Given the description of an element on the screen output the (x, y) to click on. 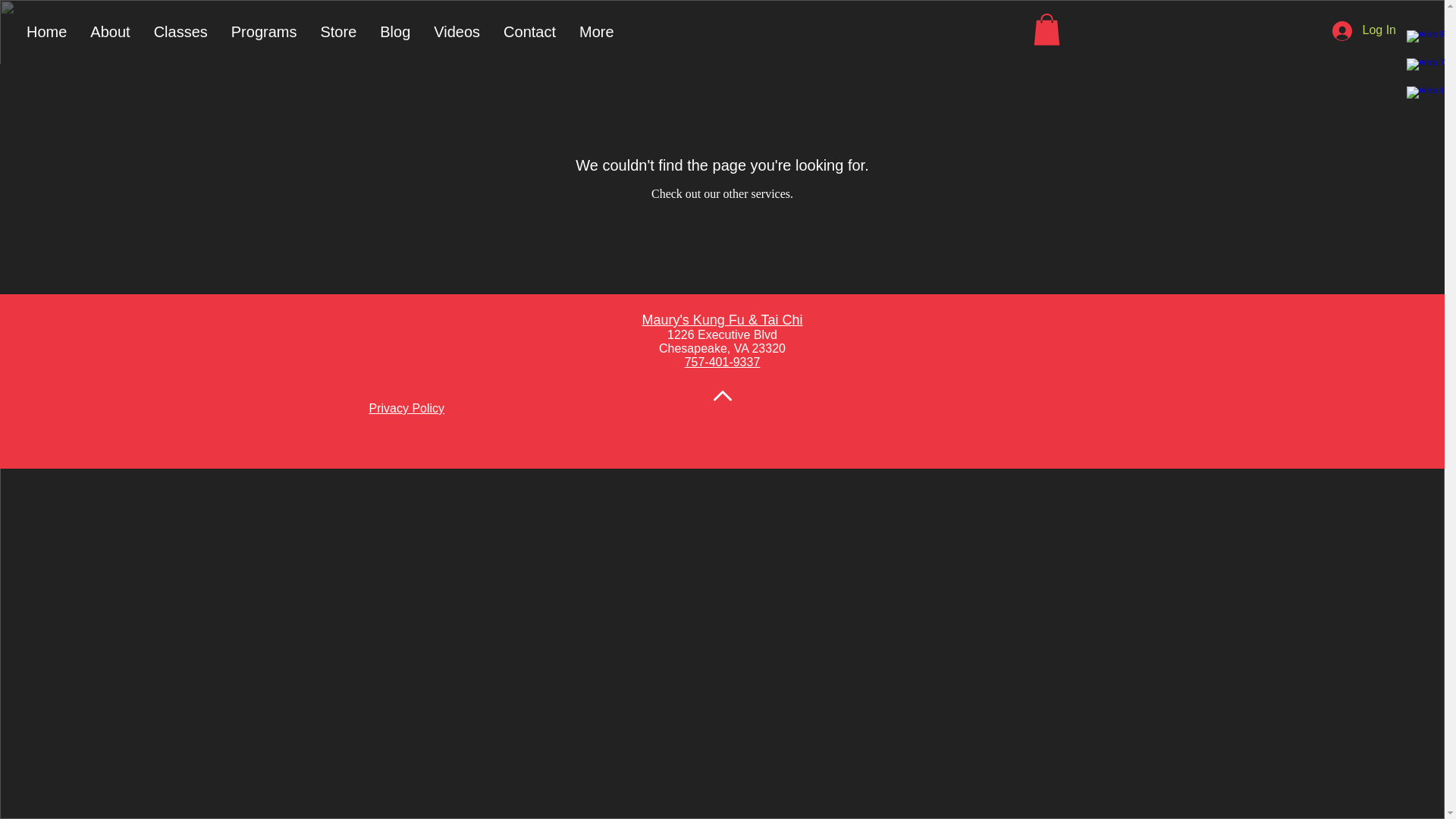
Log In (1364, 30)
Privacy Policy (406, 408)
Home (46, 34)
About (109, 34)
Classes (180, 34)
Contact (529, 34)
757-401-9337 (722, 361)
Blog (395, 34)
